Given the description of an element on the screen output the (x, y) to click on. 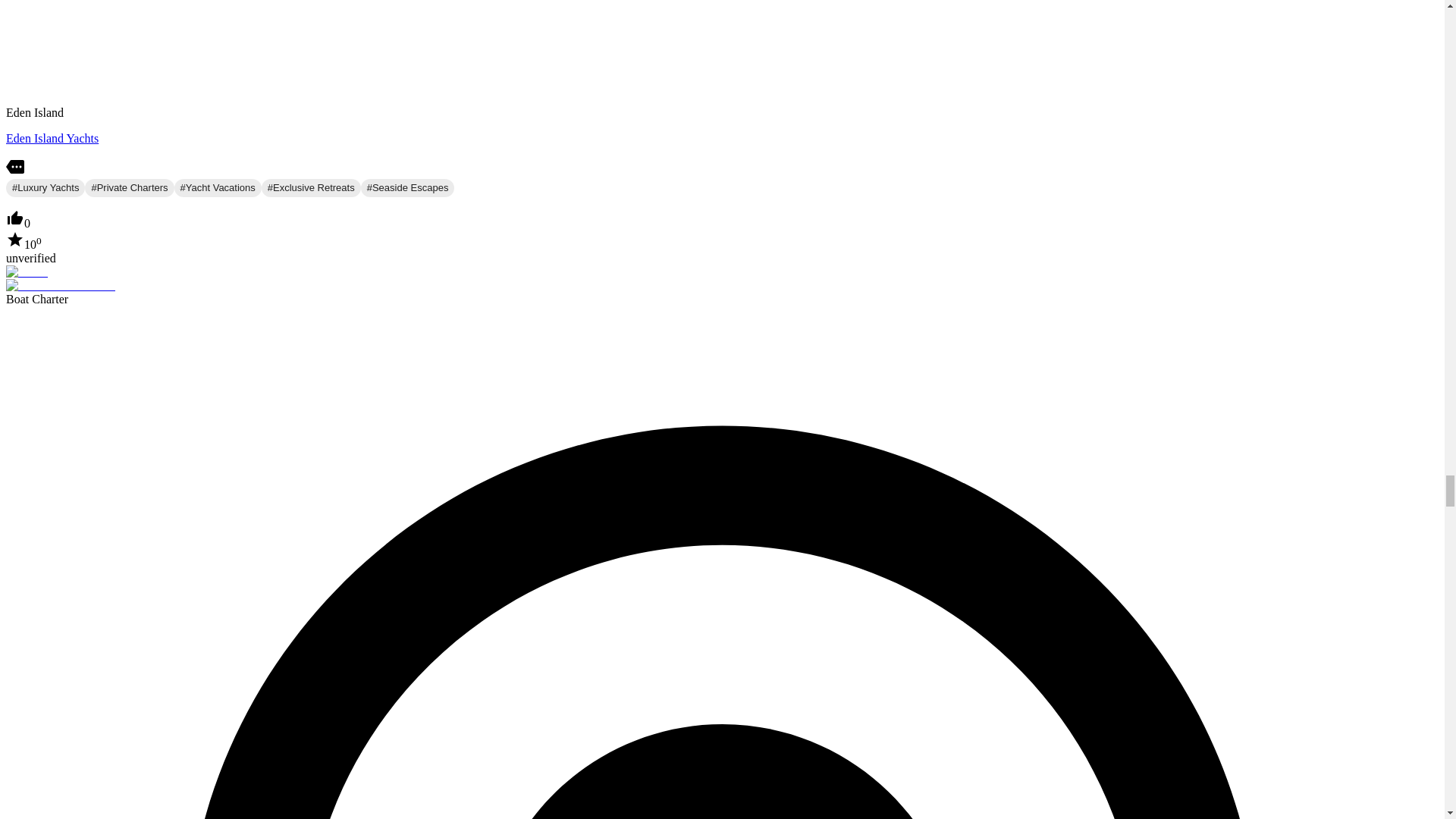
Eden Island Yachts Seychelles (52, 137)
